Given the description of an element on the screen output the (x, y) to click on. 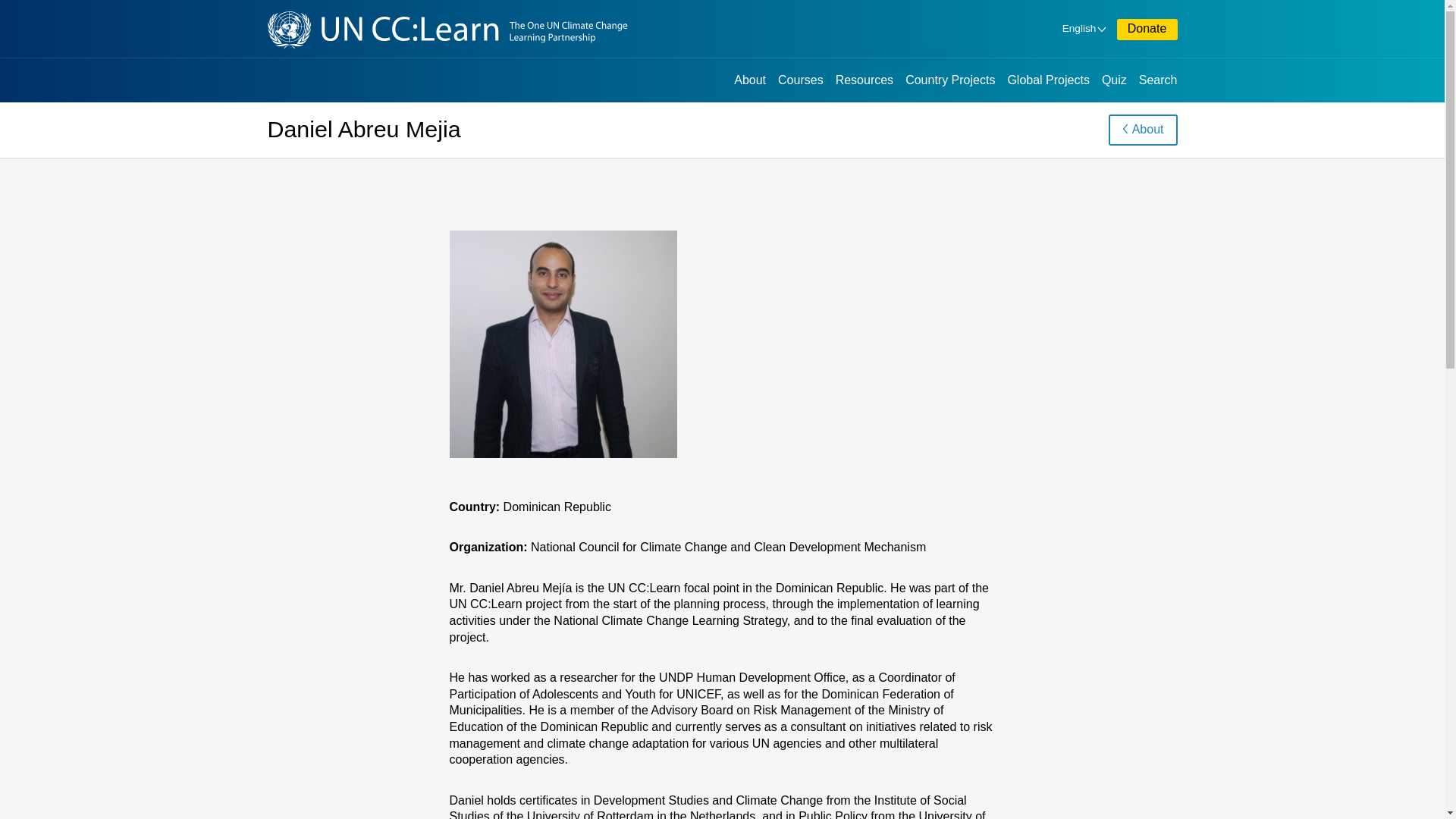
Donate (1146, 29)
About (1142, 129)
Search (1157, 79)
Global Projects (1048, 79)
Knowledge Sharing Platform (497, 28)
Resources (864, 79)
English (1082, 29)
Courses (800, 79)
About (749, 79)
Country Projects (949, 79)
